Given the description of an element on the screen output the (x, y) to click on. 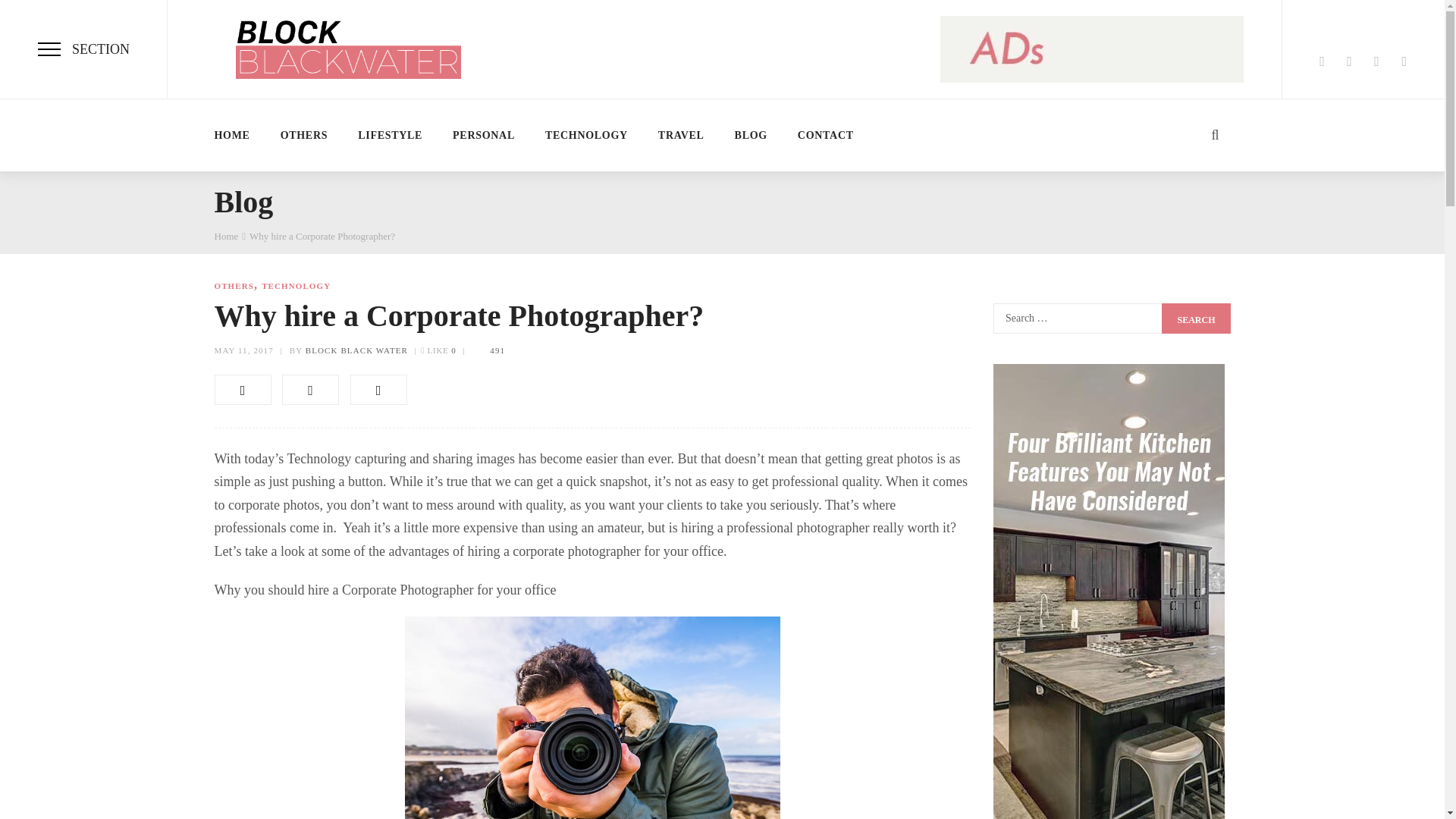
LIFESTYLE (390, 134)
TECHNOLOGY (585, 134)
PERSONAL (483, 134)
Block Black Water (356, 349)
Block Black Water-Luke Husnet (348, 48)
CONTACT (825, 134)
OTHERS (305, 134)
LIKE 0 (437, 349)
Home (226, 235)
TECHNOLOGY (296, 285)
TRAVEL (681, 134)
BLOG (751, 134)
BLOCK BLACK WATER (356, 349)
OTHERS (233, 285)
Why hire a Corporate Photographer? (243, 349)
